Given the description of an element on the screen output the (x, y) to click on. 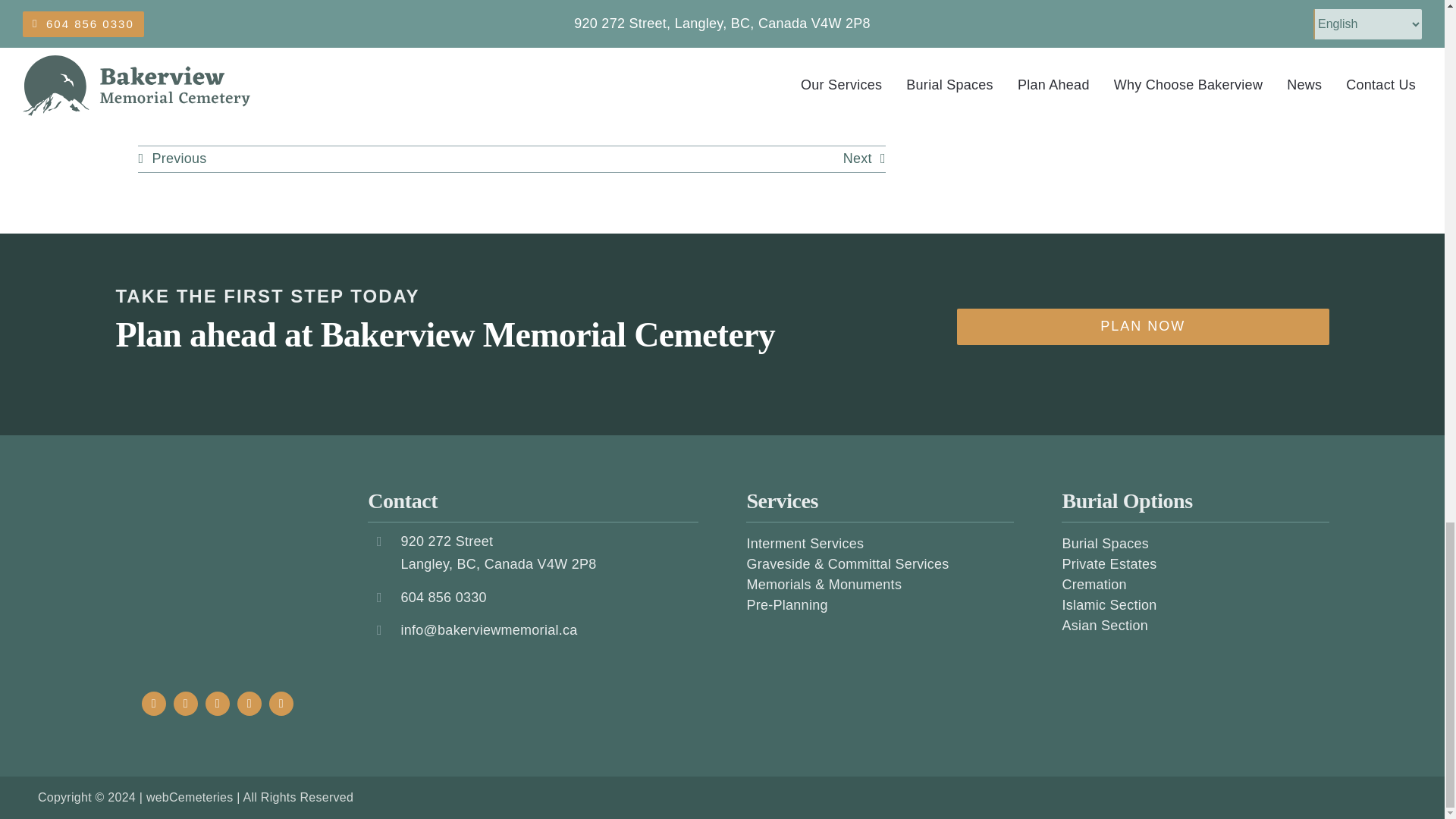
Facebook (153, 703)
LinkedIn (249, 703)
YouTube (217, 703)
Email (281, 703)
Instagram (185, 703)
